Given the description of an element on the screen output the (x, y) to click on. 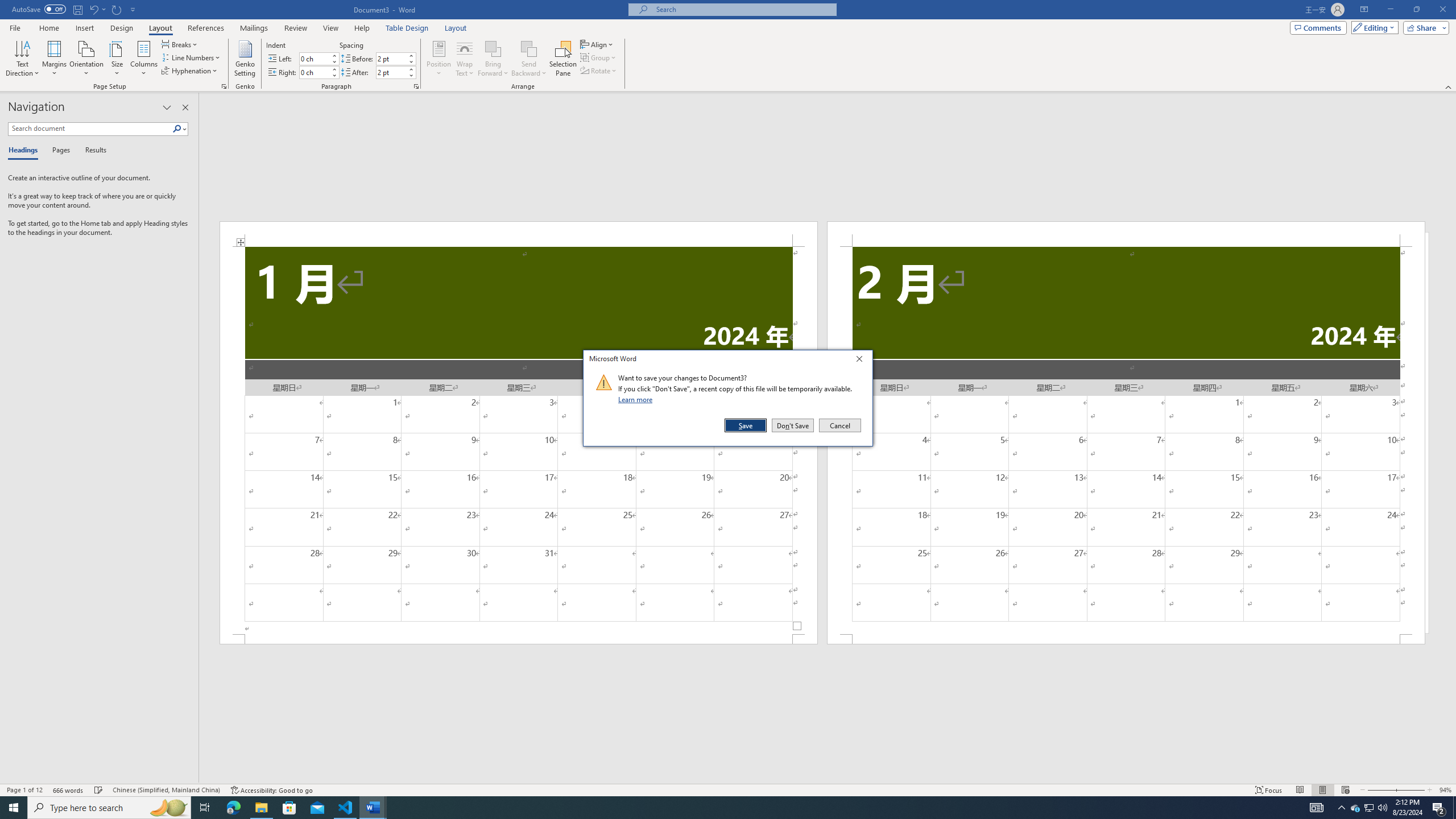
Page Setup... (223, 85)
Undo Increase Indent (96, 9)
Microsoft Edge (233, 807)
Orientation (86, 58)
More (411, 69)
Breaks (179, 44)
Group (599, 56)
